Given the description of an element on the screen output the (x, y) to click on. 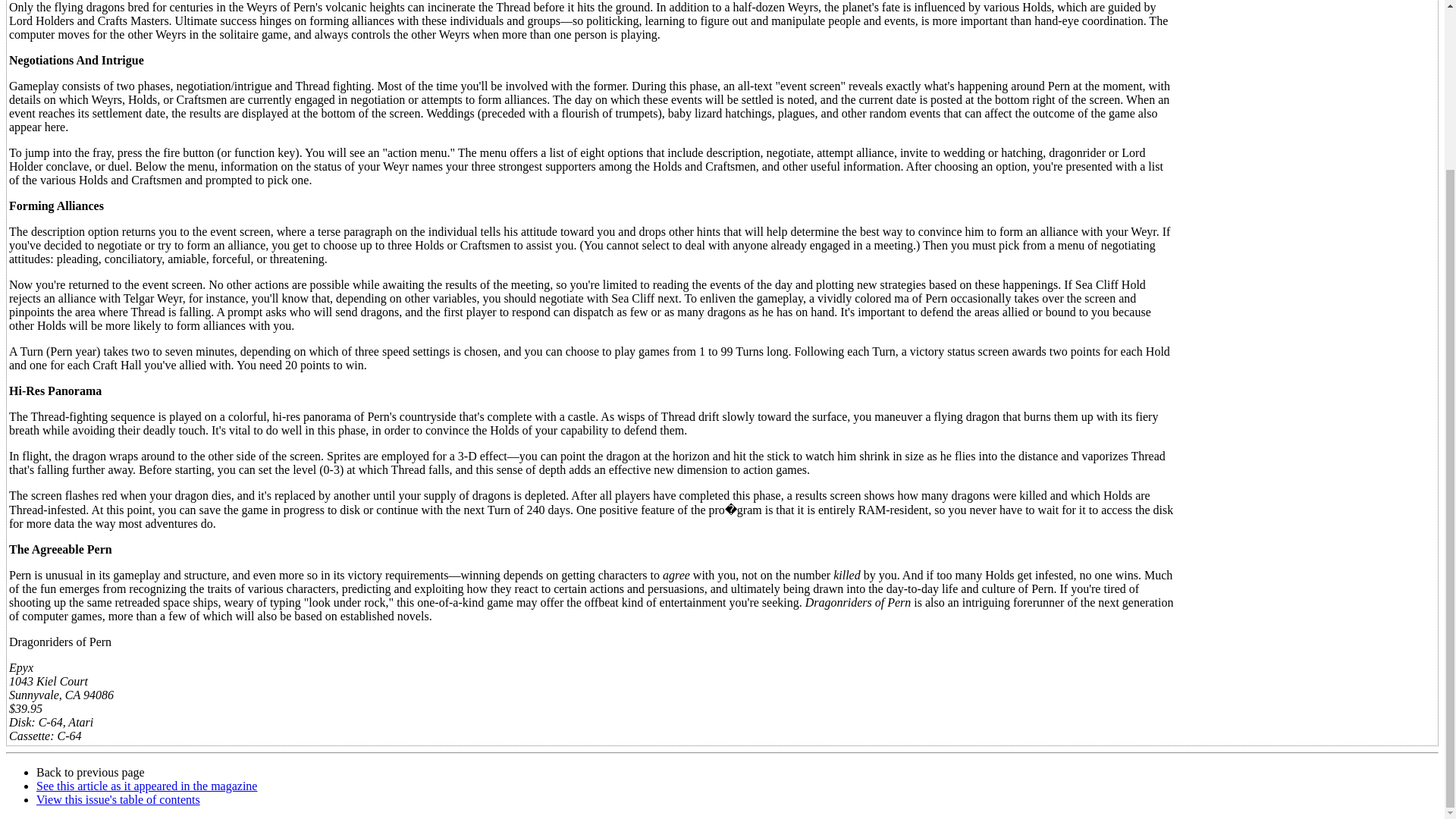
See this article as it appeared in the magazine (146, 785)
View this issue's table of contents (118, 799)
Back to previous page (90, 771)
